Given the description of an element on the screen output the (x, y) to click on. 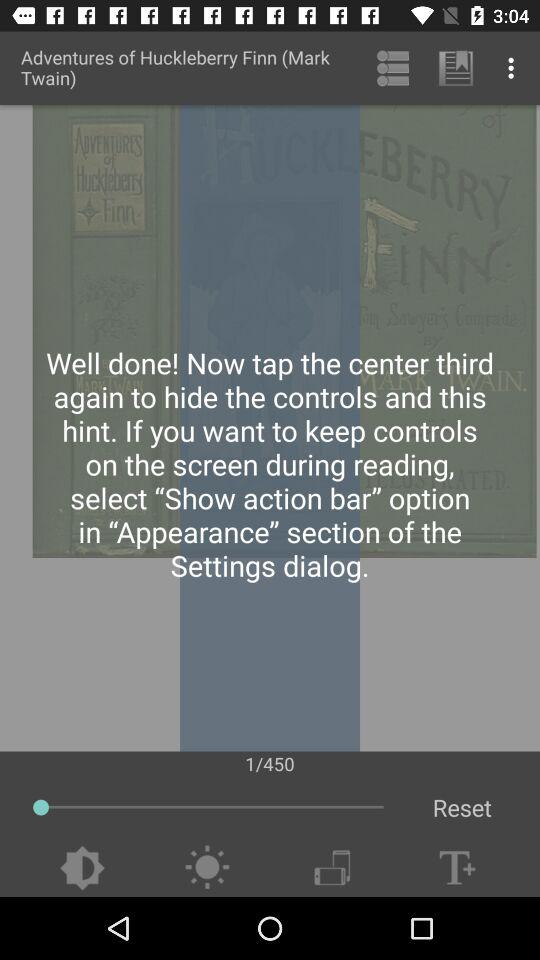
menu (206, 867)
